Given the description of an element on the screen output the (x, y) to click on. 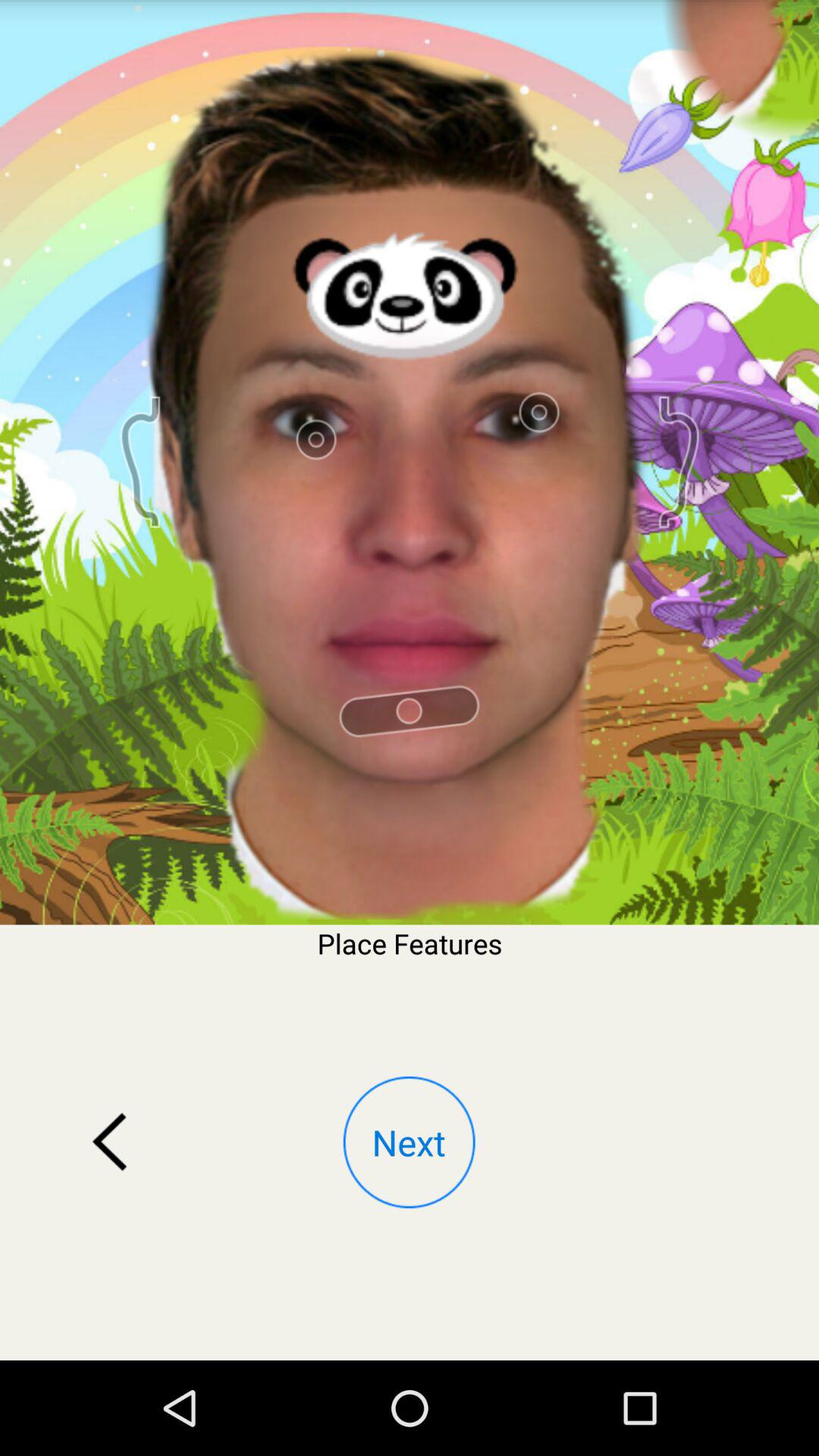
back (109, 1142)
